Given the description of an element on the screen output the (x, y) to click on. 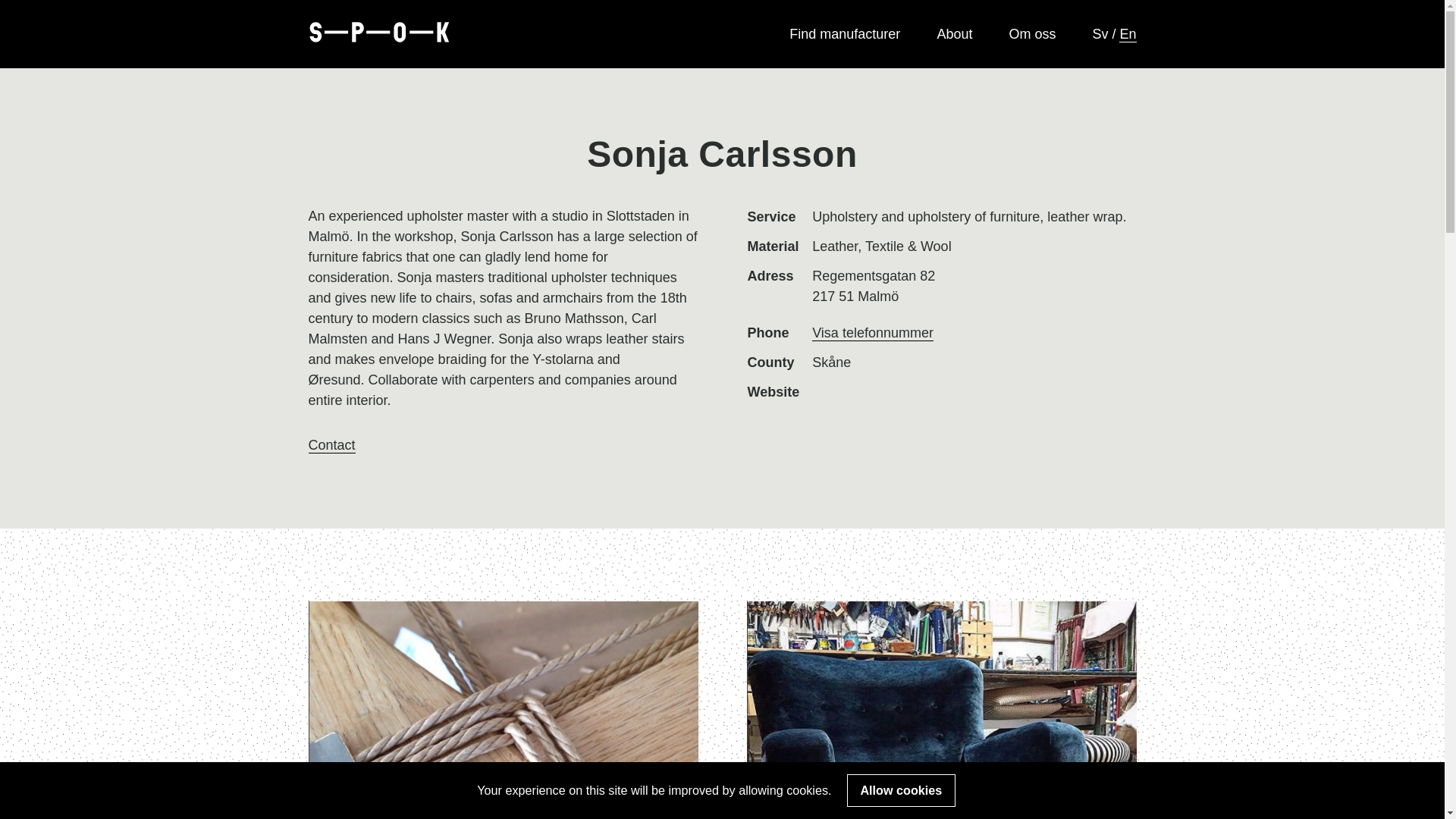
Contact (514, 444)
En (1127, 33)
Sv (1102, 32)
About (954, 32)
Allow cookies (901, 789)
Om oss (1032, 32)
Find manufacturer (844, 32)
